Given the description of an element on the screen output the (x, y) to click on. 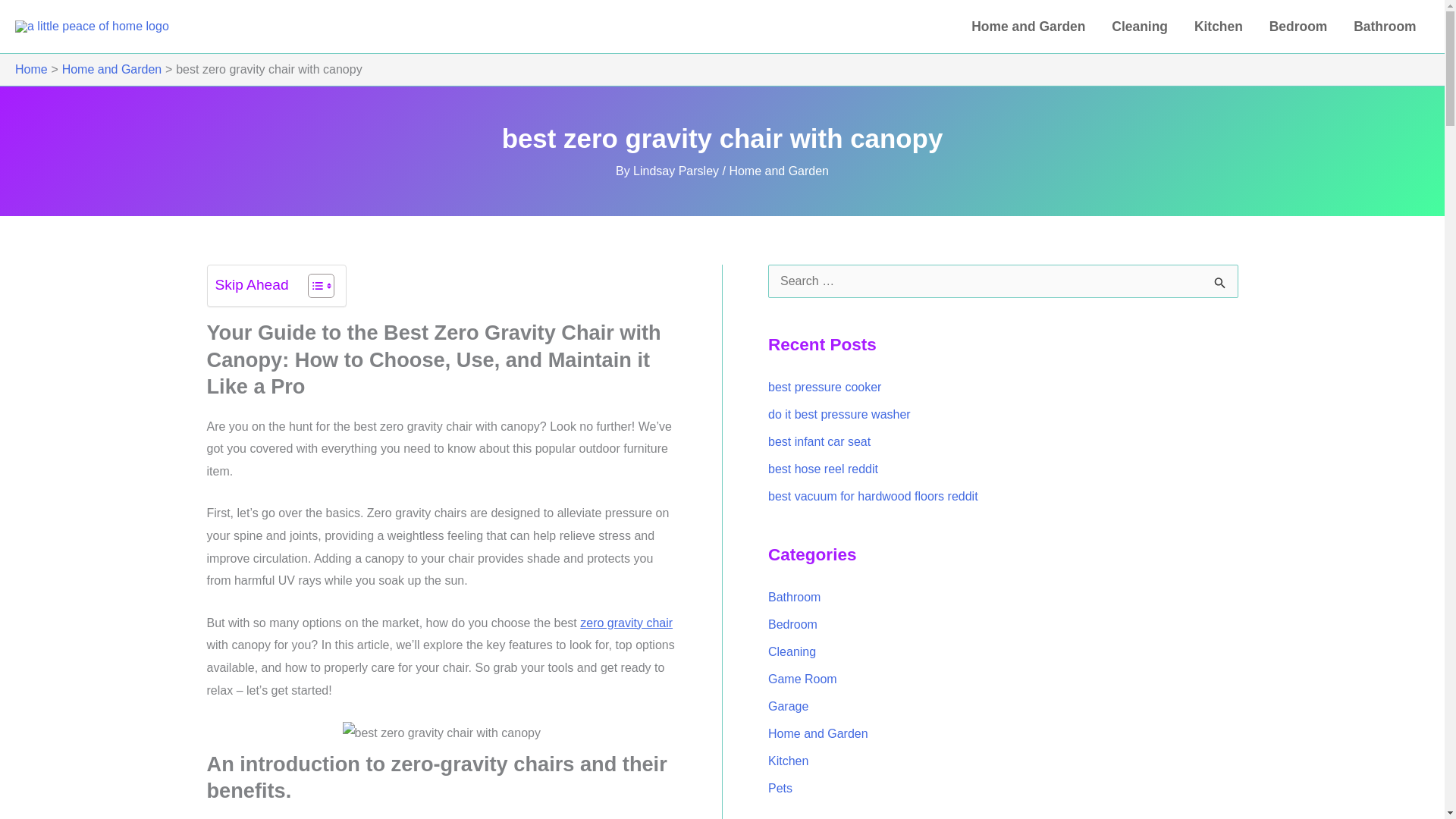
Home and Garden (1028, 26)
Home and Garden (778, 170)
Kitchen (1217, 26)
zero gravity chair (625, 622)
Search (1221, 285)
View all posts by Lindsay Parsley (677, 170)
Cleaning (1139, 26)
Lindsay Parsley (677, 170)
best zero gravity chair with canopy (441, 732)
Home (31, 69)
zero gravity chair (625, 622)
Search (1221, 285)
Bathroom (1384, 26)
Bedroom (1297, 26)
Home and Garden (111, 69)
